Given the description of an element on the screen output the (x, y) to click on. 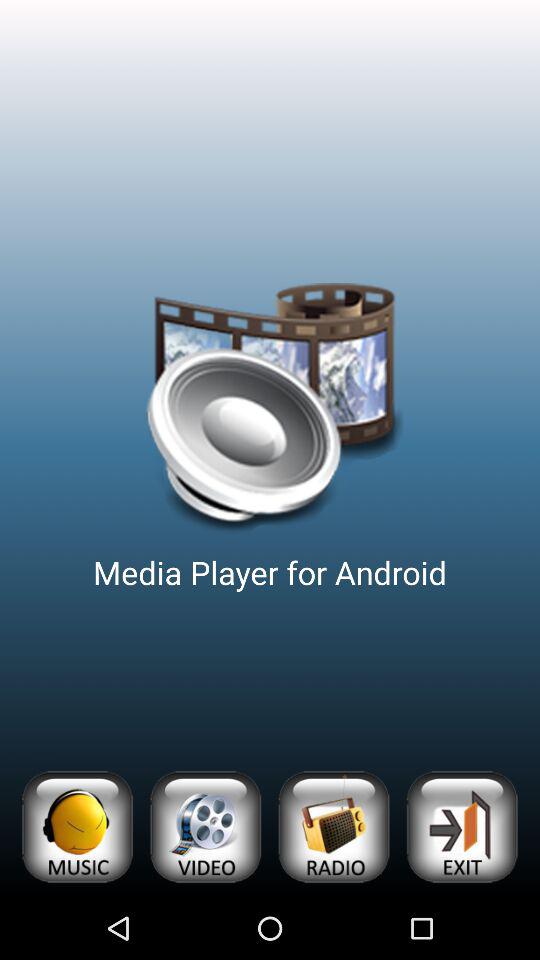
shows videos (205, 826)
